Given the description of an element on the screen output the (x, y) to click on. 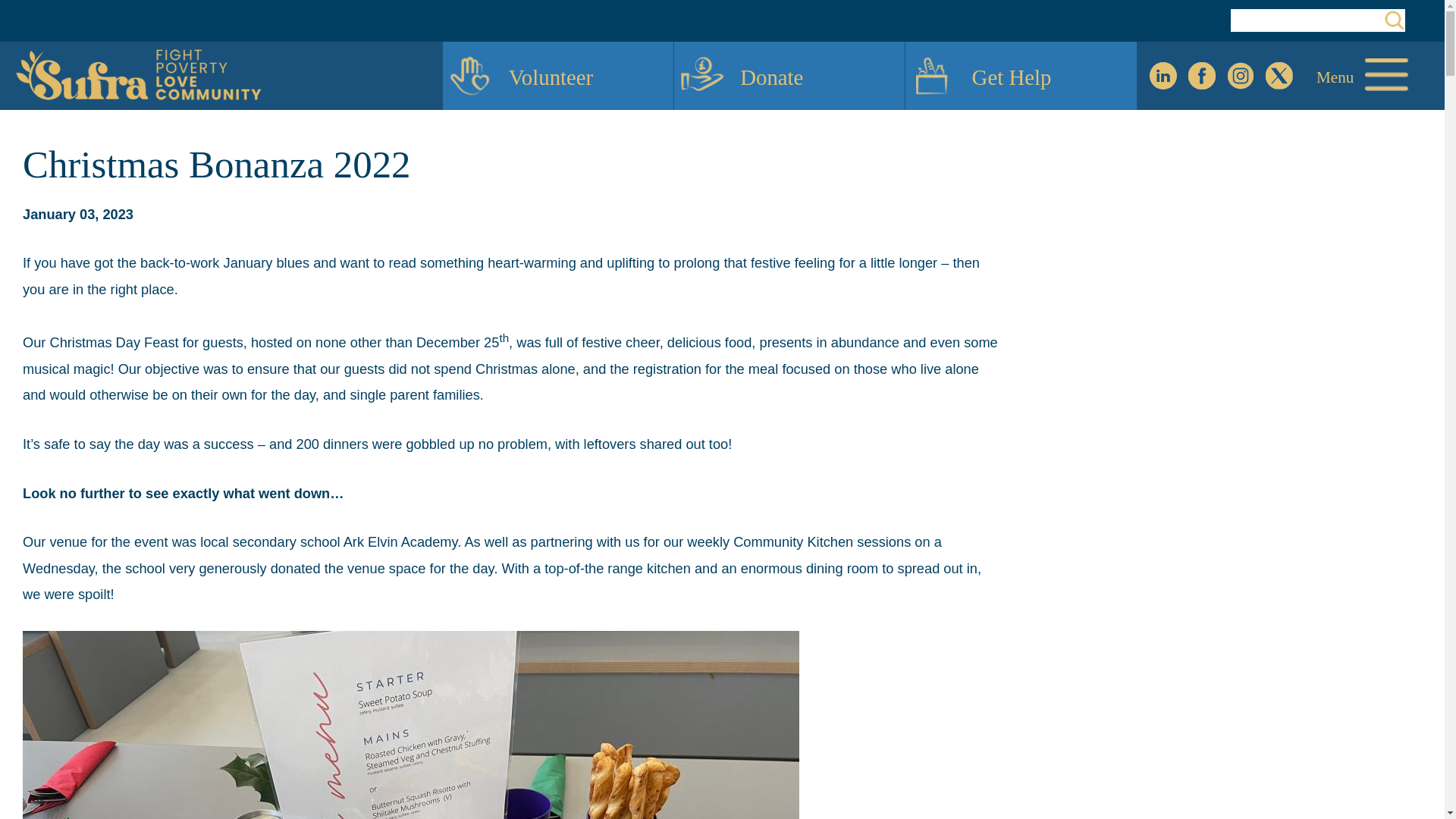
Get Help (1020, 76)
Volunteer (557, 76)
Donate (789, 76)
